Given the description of an element on the screen output the (x, y) to click on. 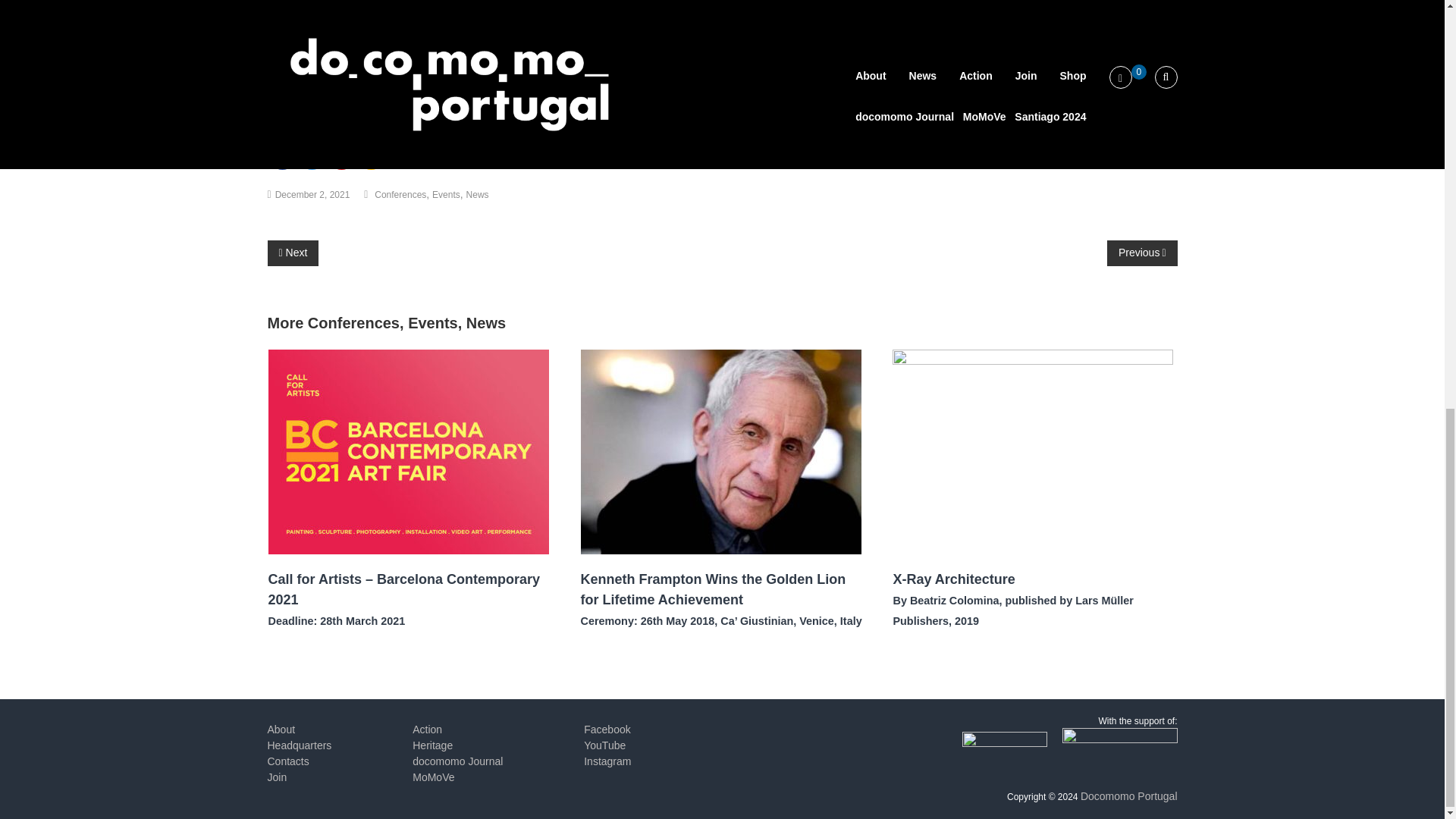
Pinterest (340, 156)
Copy Link (371, 156)
Twitter (311, 156)
Facebook (281, 156)
